Given the description of an element on the screen output the (x, y) to click on. 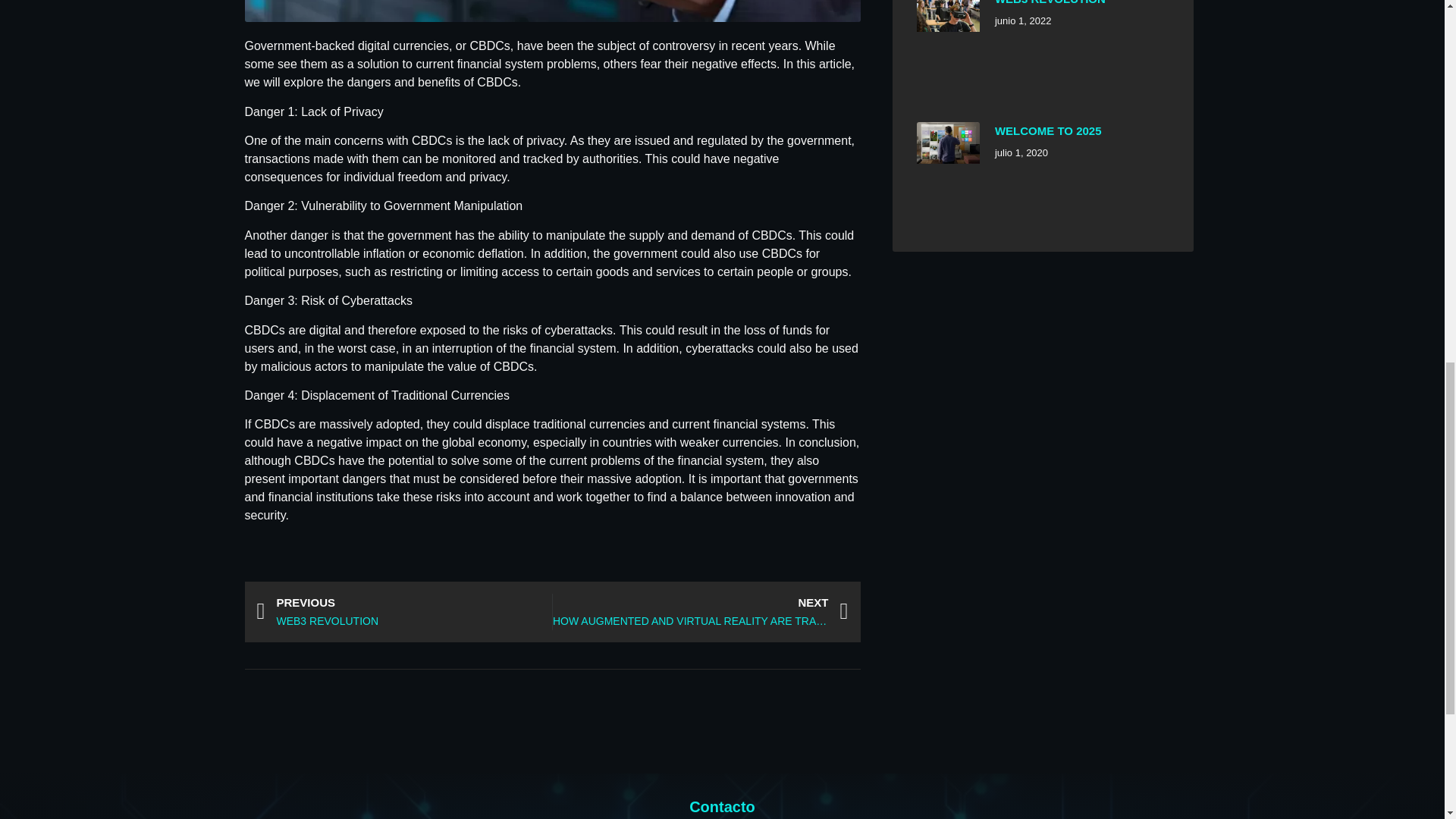
WEB3 REVOLUTION (1049, 2)
WELCOME TO 2025 (1048, 130)
